Given the description of an element on the screen output the (x, y) to click on. 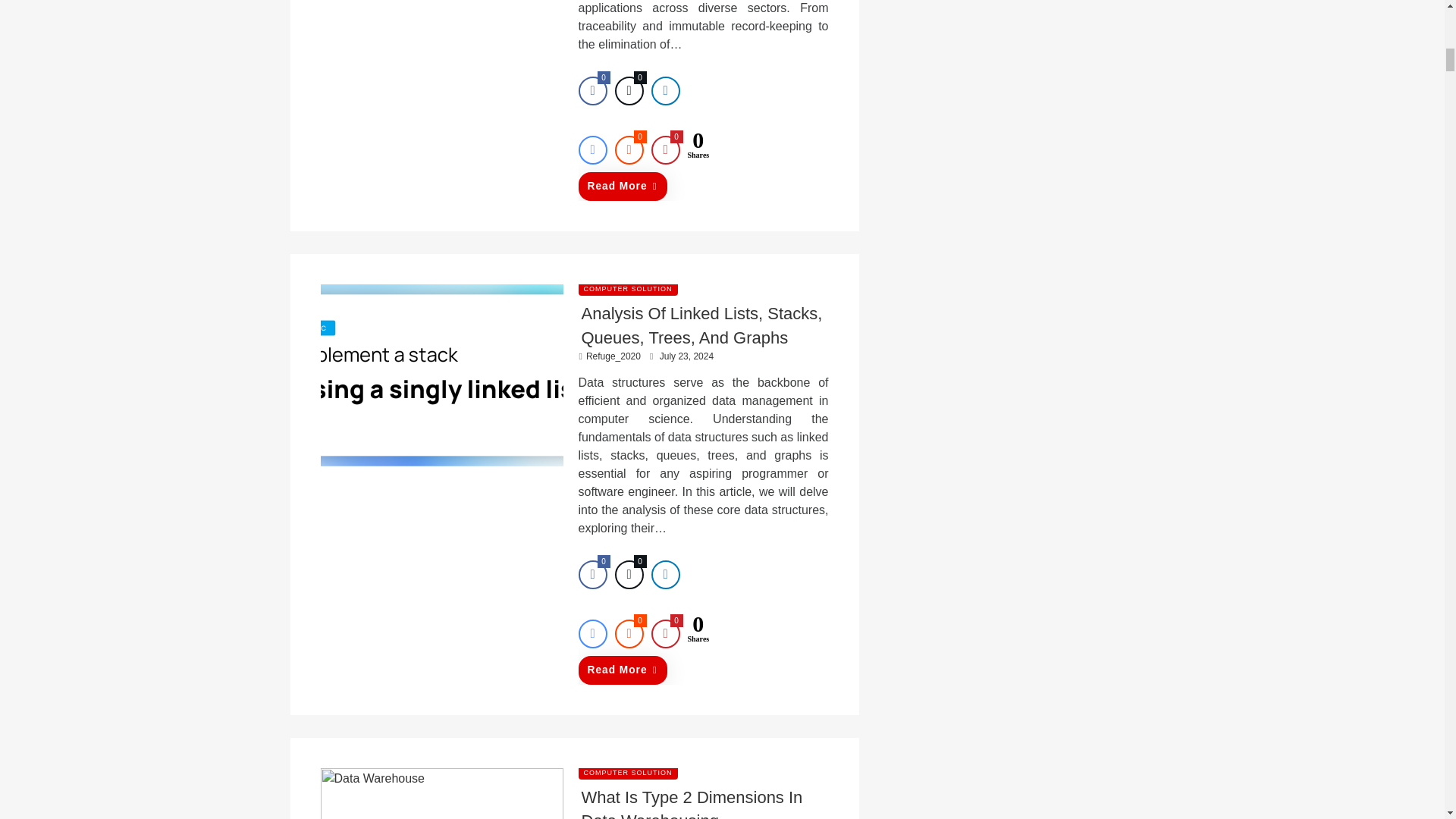
What Is Type 2 Dimensions In Data Warehousing 7 (441, 793)
